Given the description of an element on the screen output the (x, y) to click on. 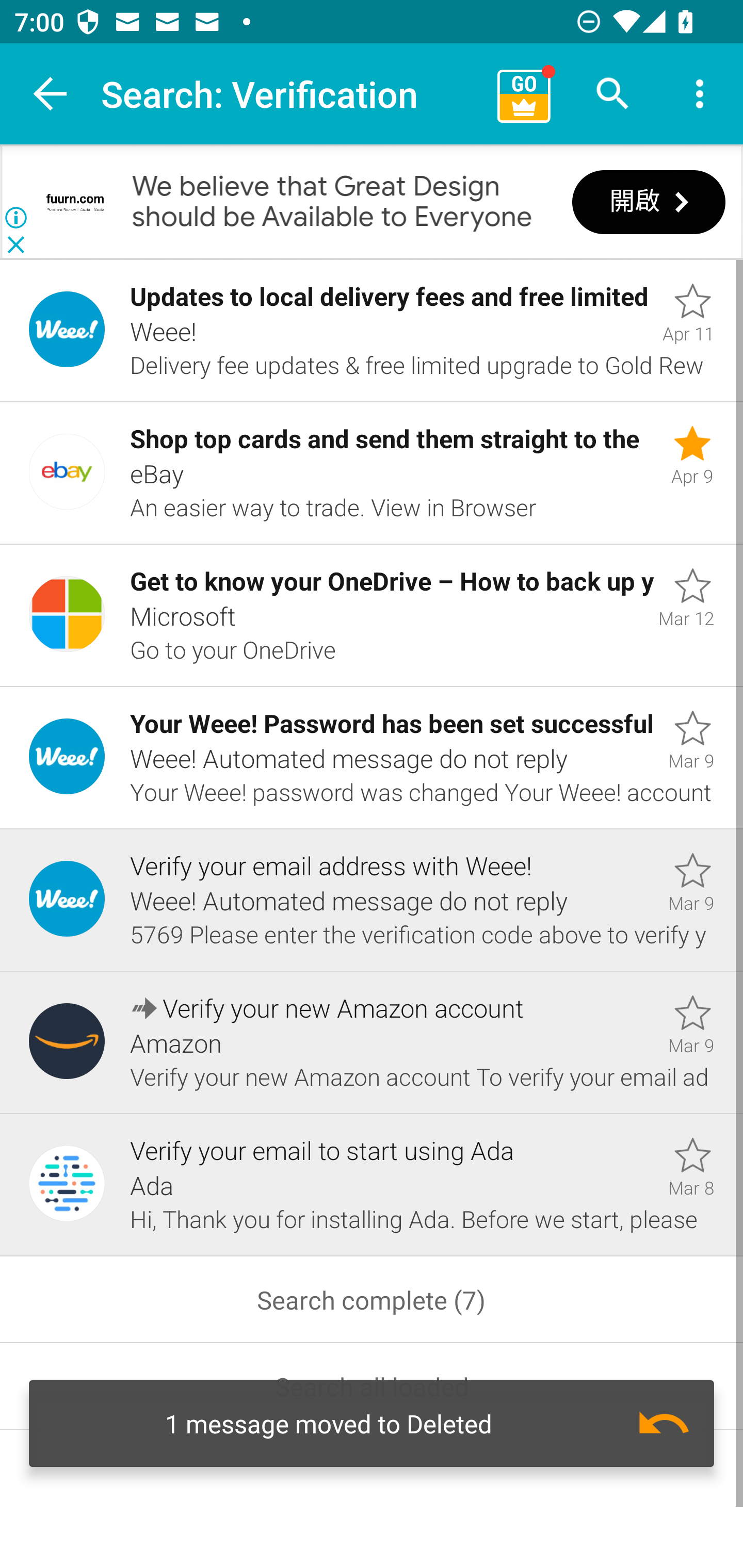
Navigate up (50, 93)
Search (612, 93)
More options (699, 93)
FUURN Furniture (74, 201)
開啟 (648, 202)
Search complete (7) (371, 1299)
Undo 1 message moved to Deleted (371, 1423)
